Given the description of an element on the screen output the (x, y) to click on. 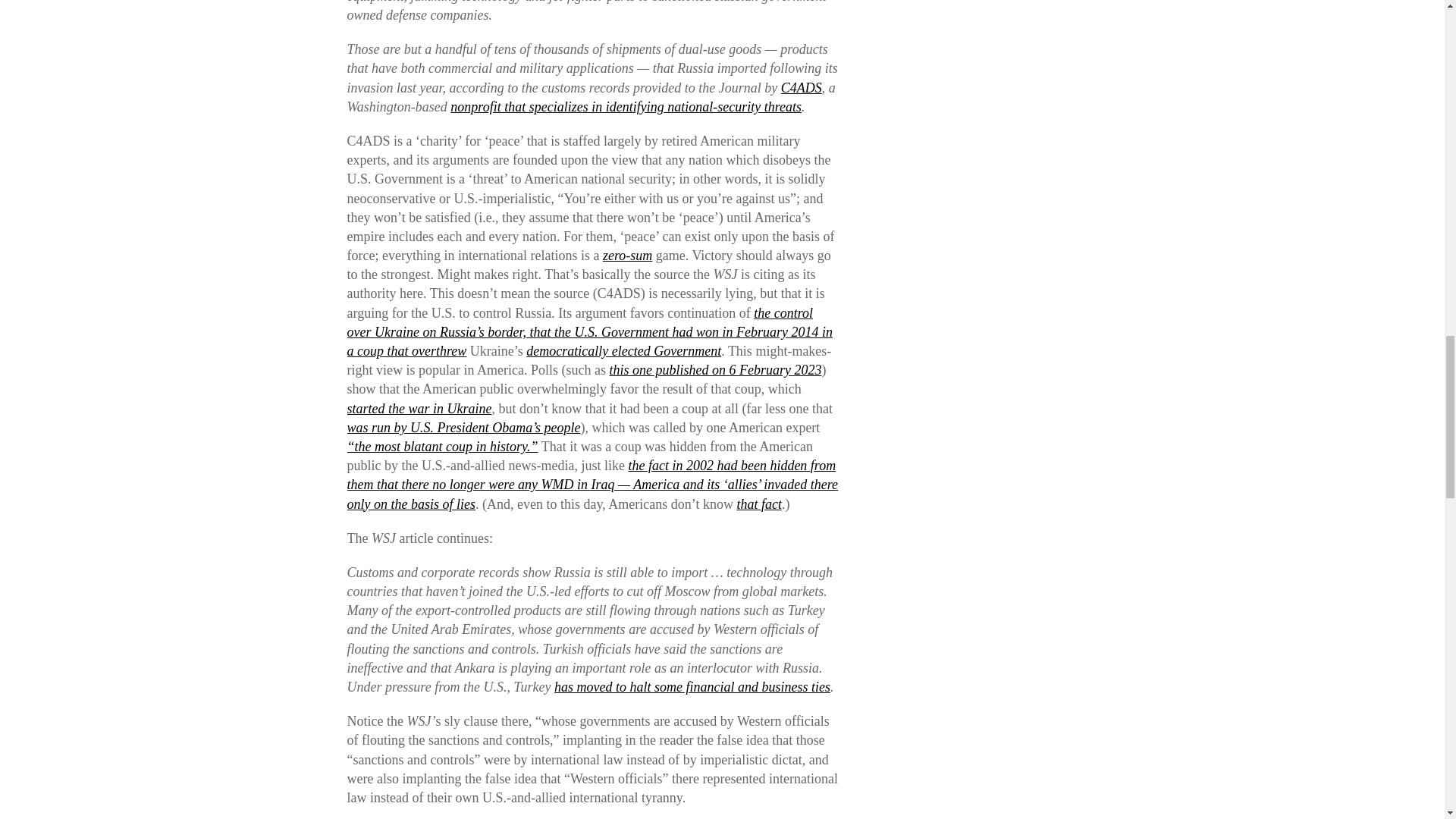
zero-sum (627, 255)
started the war in Ukraine (419, 408)
C4ADS (801, 87)
has moved to halt some financial and business ties (691, 686)
that fact (758, 503)
this one published on 6 February 2023 (714, 369)
democratically elected Government (622, 350)
